Given the description of an element on the screen output the (x, y) to click on. 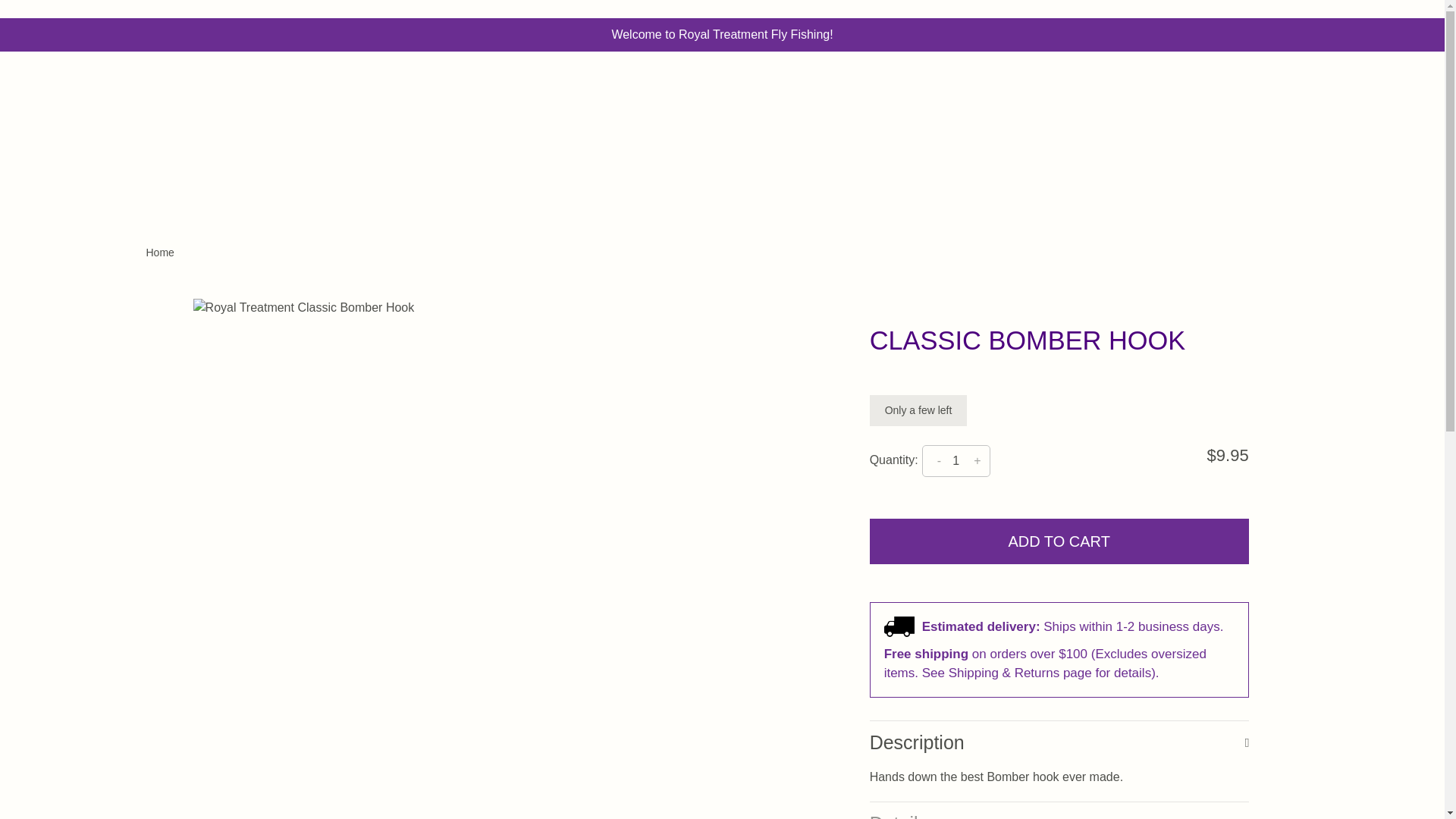
1 (955, 460)
